Given the description of an element on the screen output the (x, y) to click on. 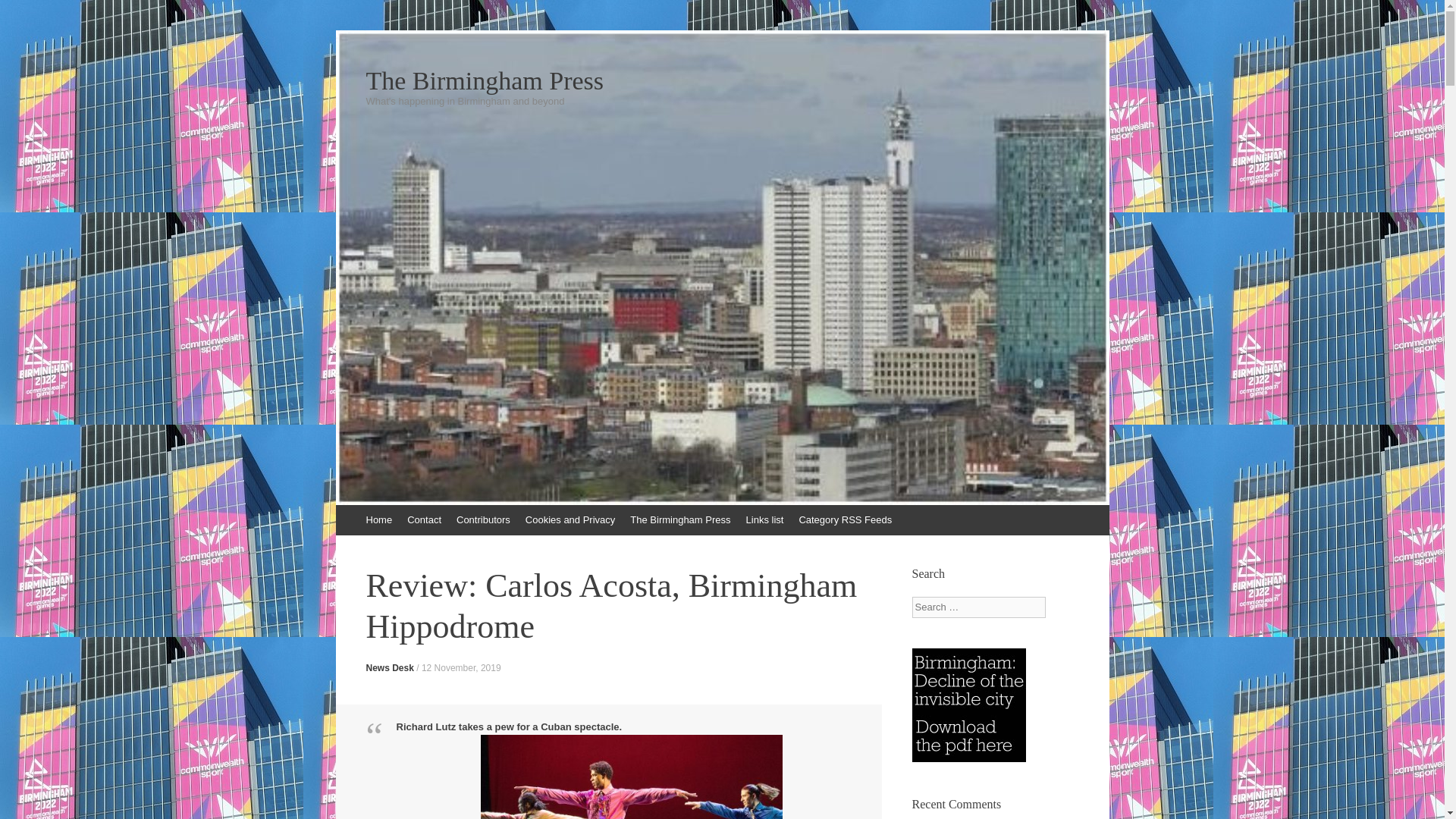
Cookies and Privacy (570, 520)
The Birmingham Press (680, 520)
The Birmingham Press (721, 80)
The Birmingham Press (721, 80)
The Birmingham Press (680, 520)
Contributors (483, 520)
Contributors (483, 520)
Skip to content (342, 512)
12 November, 2019 (461, 667)
Contact (423, 520)
Home (378, 520)
Category RSS Feeds (844, 520)
Contact (423, 520)
Category RSS Feeds (844, 520)
Search (23, 15)
